Given the description of an element on the screen output the (x, y) to click on. 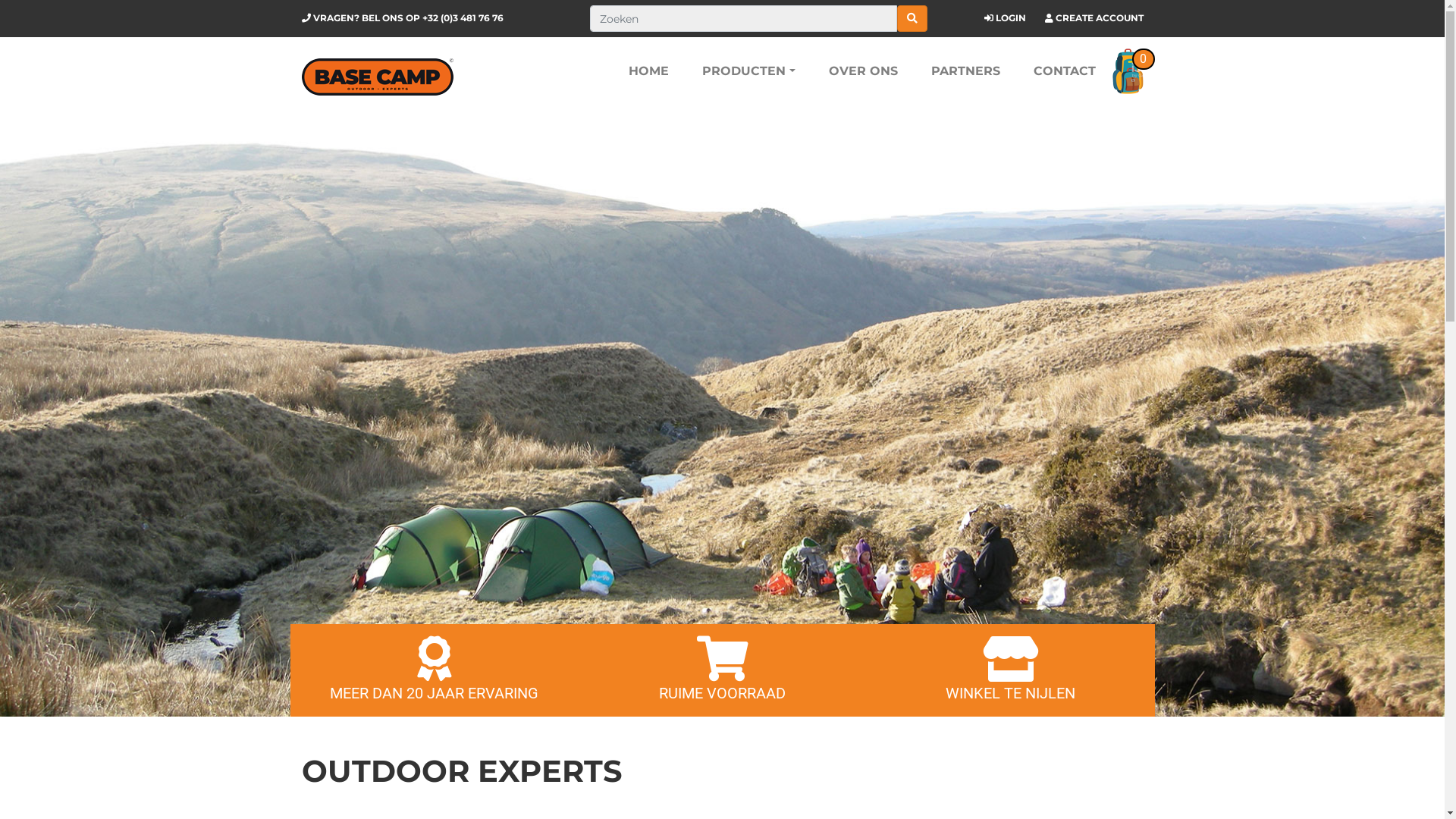
LOGIN Element type: text (1009, 17)
PARTNERS Element type: text (965, 70)
Shopping cart Element type: hover (1126, 71)
Base Camp Element type: hover (377, 76)
CONTACT Element type: text (1063, 70)
PRODUCTEN Element type: text (748, 70)
HOME Element type: text (648, 70)
CREATE ACCOUNT Element type: text (1099, 17)
VRAGEN? BEL ONS OP +32 (0)3 481 76 76 Element type: text (402, 17)
0 Element type: text (1126, 71)
OVER ONS Element type: text (862, 70)
